Given the description of an element on the screen output the (x, y) to click on. 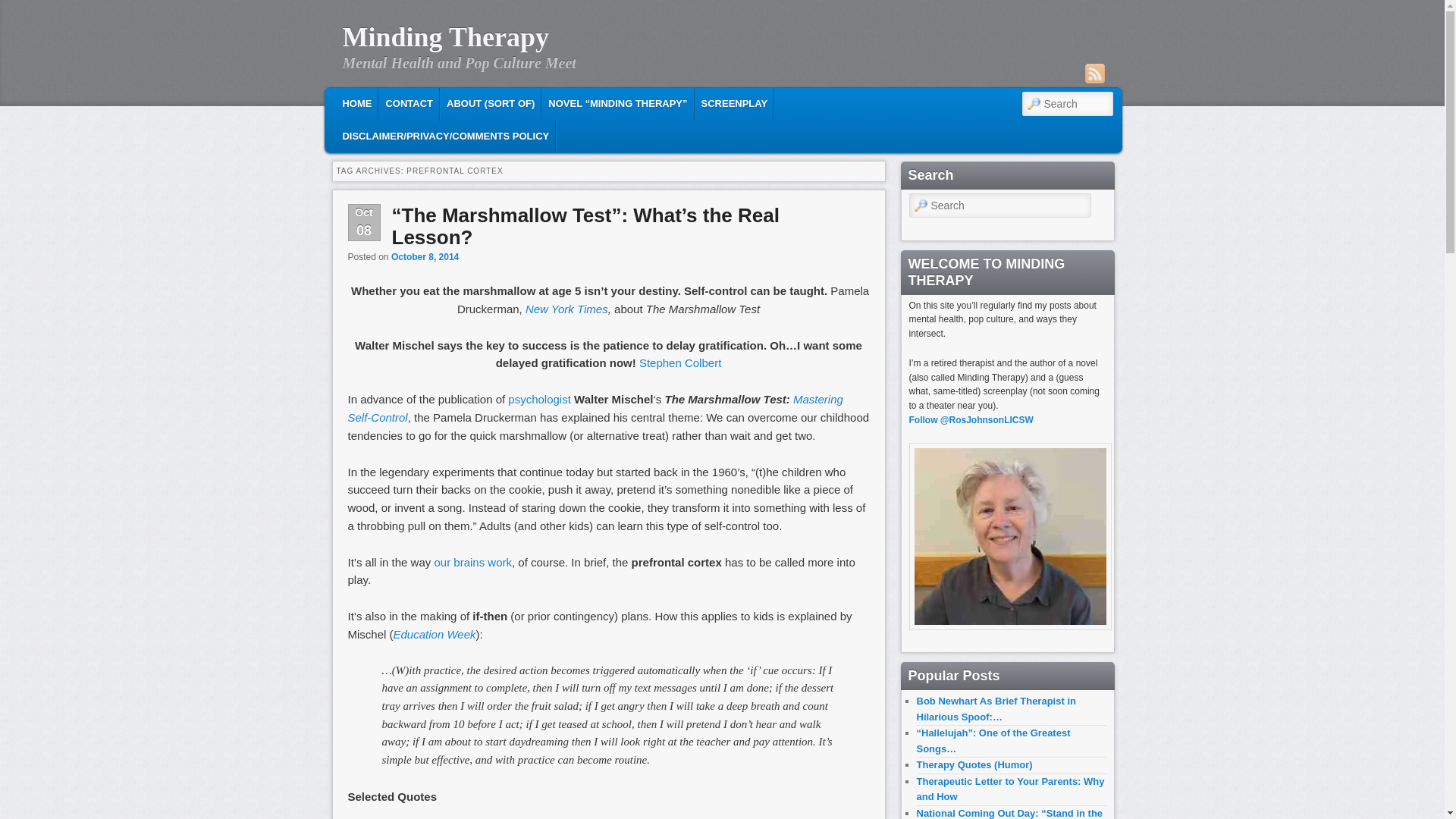
Mastering Self-Control (595, 408)
Stephen Colbert (679, 362)
psychologist (539, 399)
our brains work (472, 562)
Skip to secondary content (432, 102)
New York Times (566, 308)
Education Week (434, 634)
Skip to primary content (421, 102)
October 8, 2014 (424, 256)
marshmallow test (434, 634)
